Given the description of an element on the screen output the (x, y) to click on. 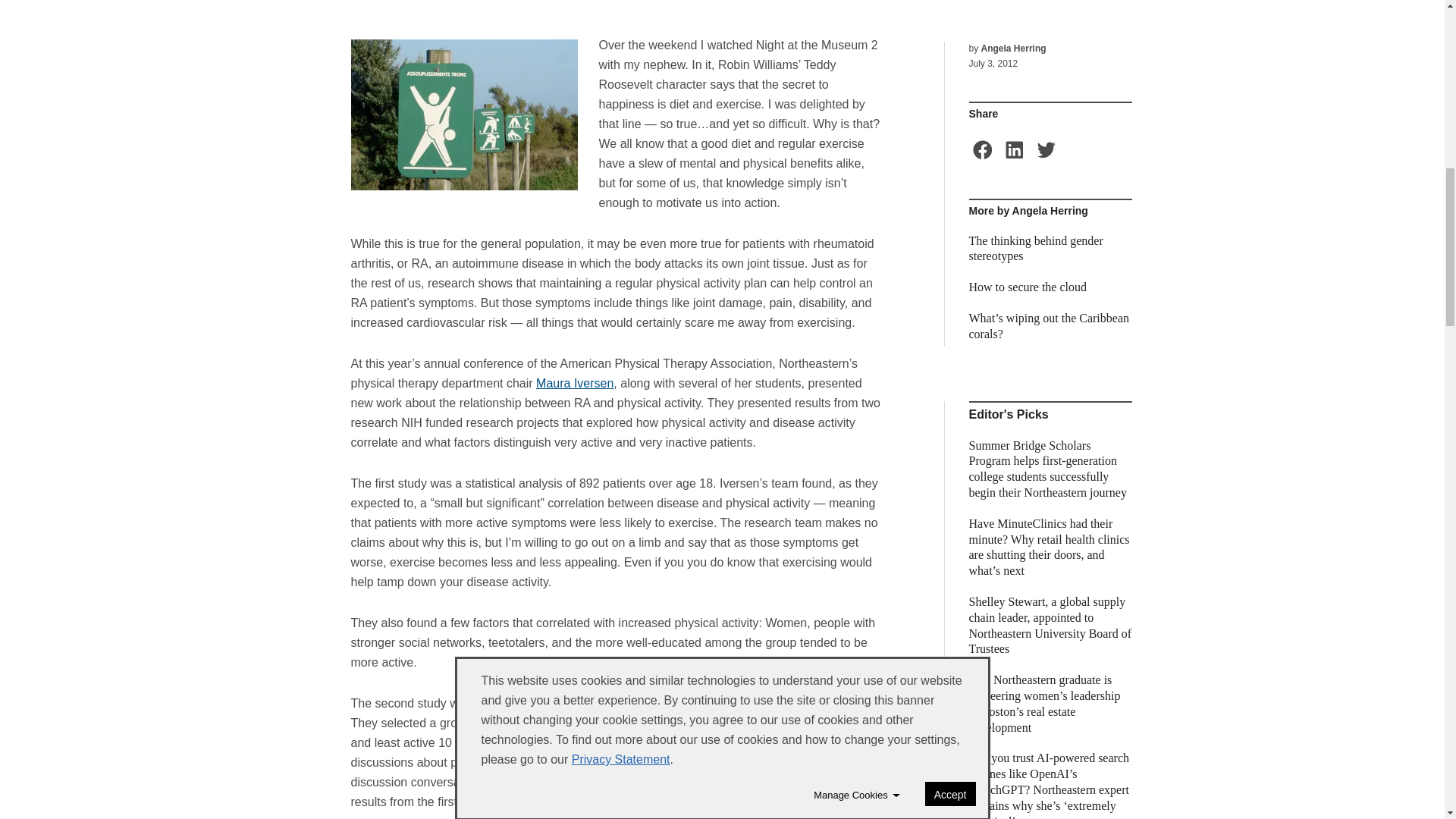
Exercise (463, 114)
